Given the description of an element on the screen output the (x, y) to click on. 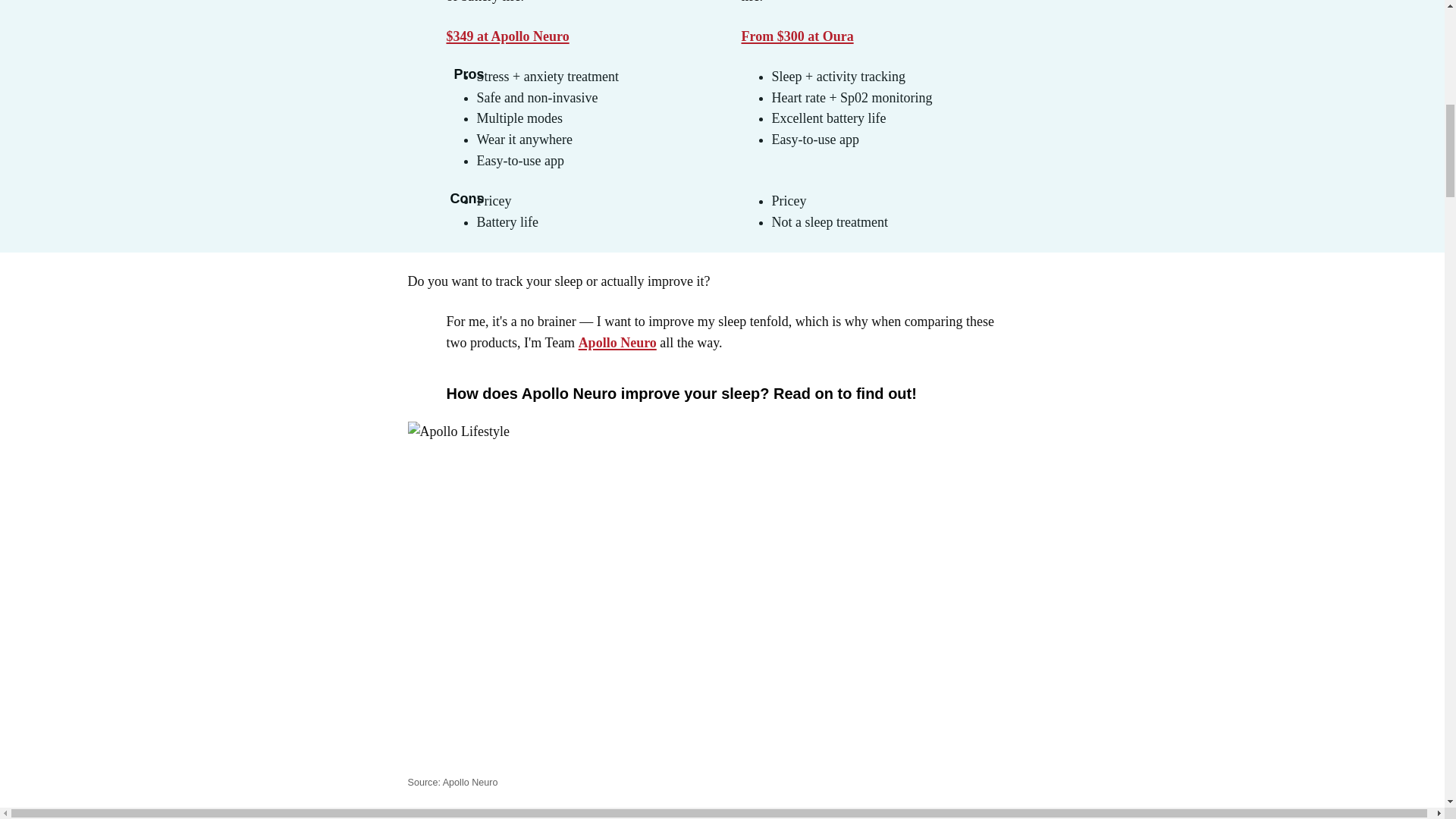
Apollo Neuro (617, 342)
